Given the description of an element on the screen output the (x, y) to click on. 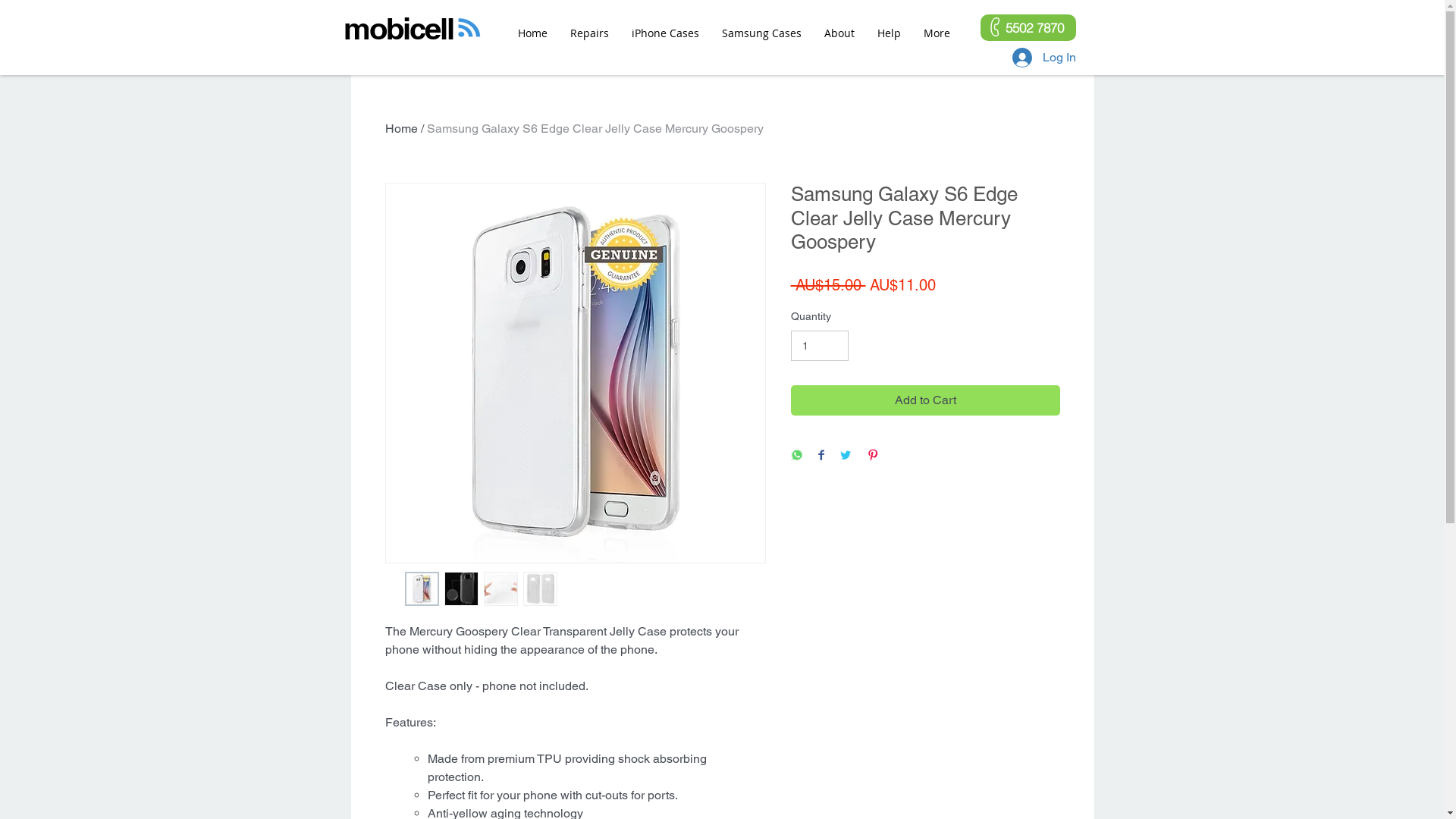
mobicell Element type: text (397, 28)
About Element type: text (839, 32)
5502 7870 Element type: text (1027, 27)
Samsung Cases Element type: text (760, 32)
iPhone Cases Element type: text (665, 32)
Home Element type: text (401, 128)
Help Element type: text (889, 32)
Add to Cart Element type: text (924, 400)
Home Element type: text (532, 32)
Samsung Galaxy S6 Edge Clear Jelly Case Mercury Goospery Element type: text (594, 128)
Log In Element type: text (1043, 57)
